Given the description of an element on the screen output the (x, y) to click on. 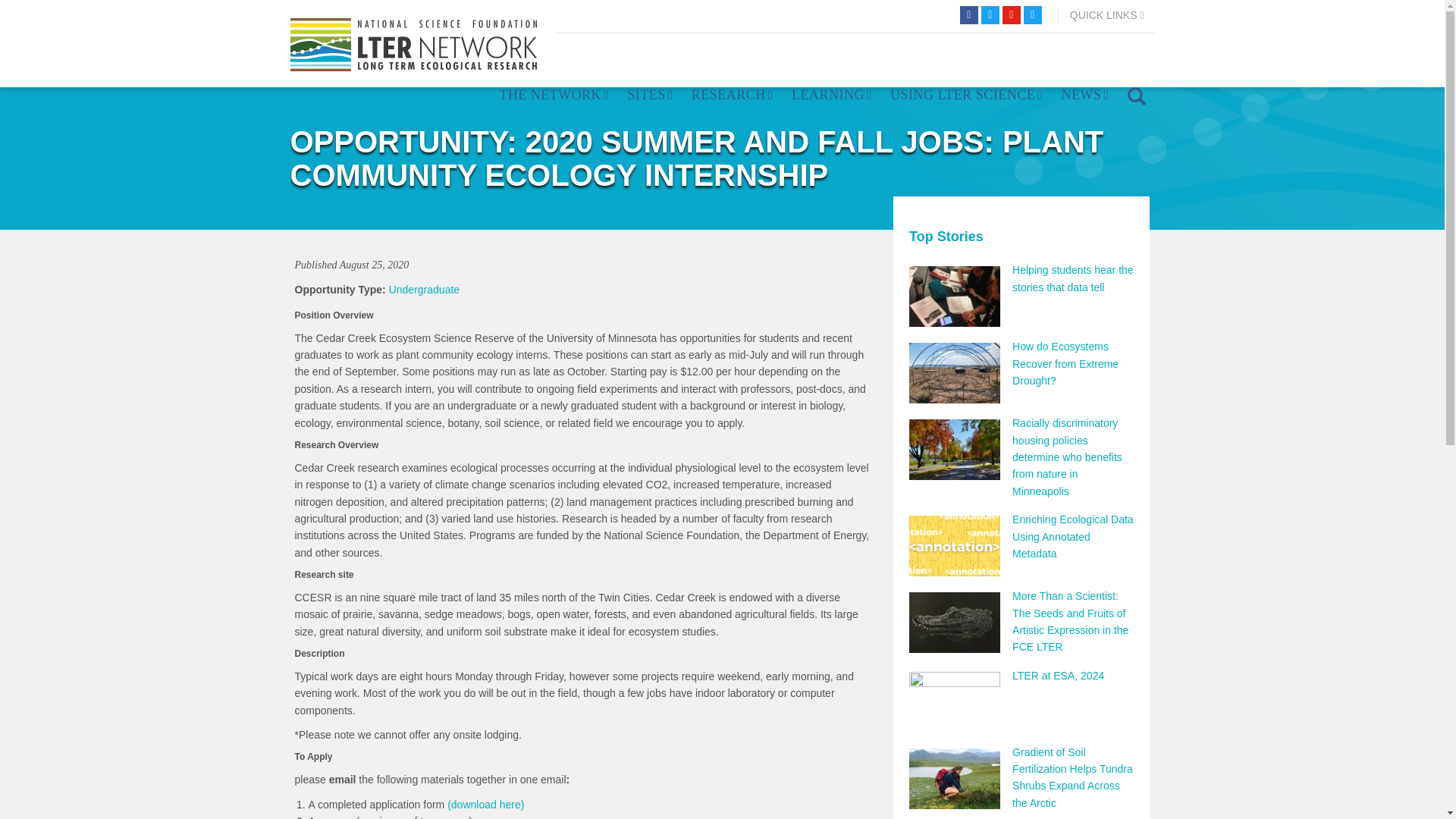
THE NETWORK (553, 95)
QUICK LINKS (1107, 15)
